Given the description of an element on the screen output the (x, y) to click on. 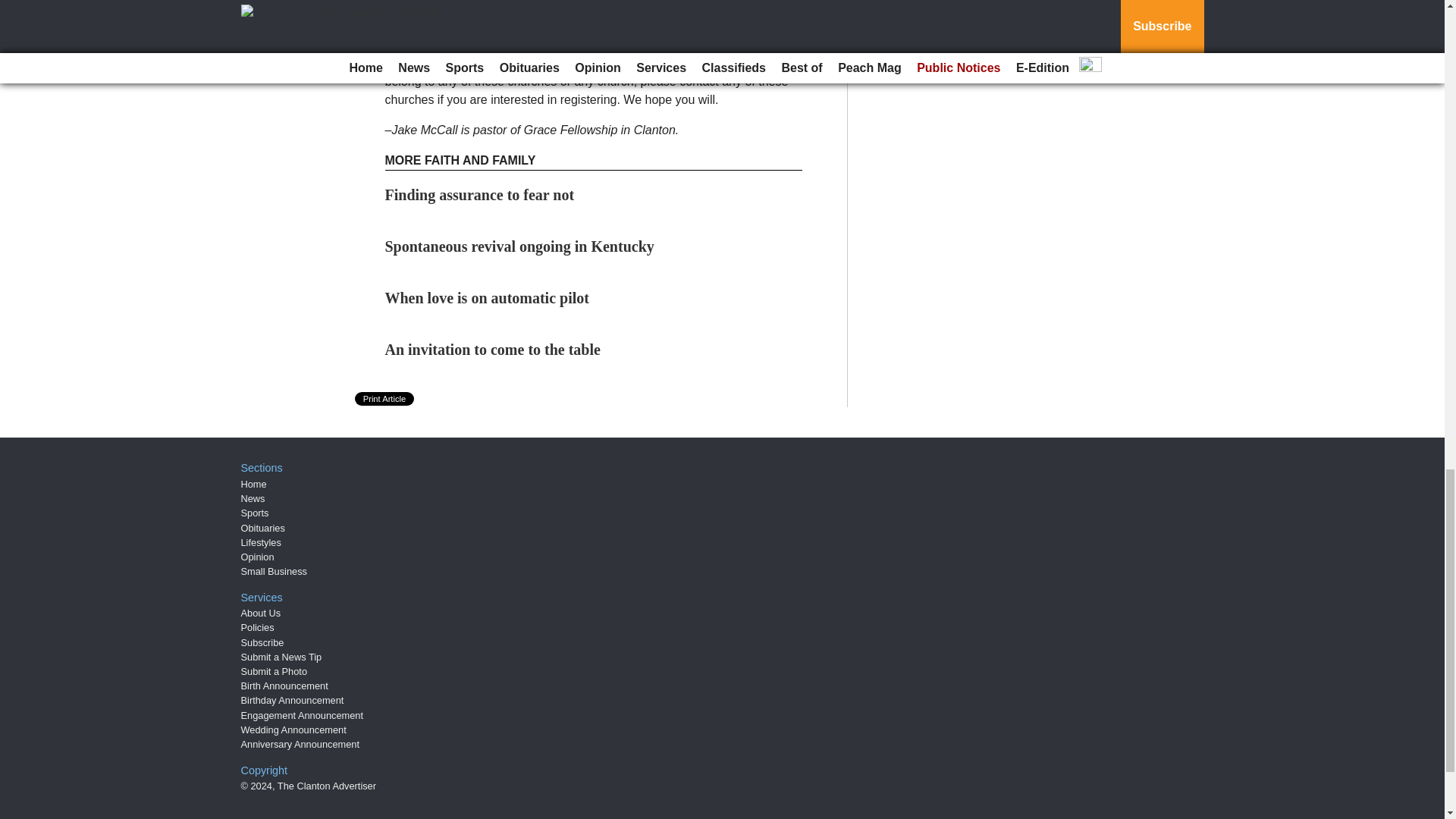
Spontaneous revival ongoing in Kentucky (519, 246)
When love is on automatic pilot (487, 297)
Finding assurance to fear not (480, 194)
An invitation to come to the table (492, 349)
An invitation to come to the table (492, 349)
Spontaneous revival ongoing in Kentucky (519, 246)
Print Article (384, 398)
Finding assurance to fear not (480, 194)
When love is on automatic pilot (487, 297)
